Given the description of an element on the screen output the (x, y) to click on. 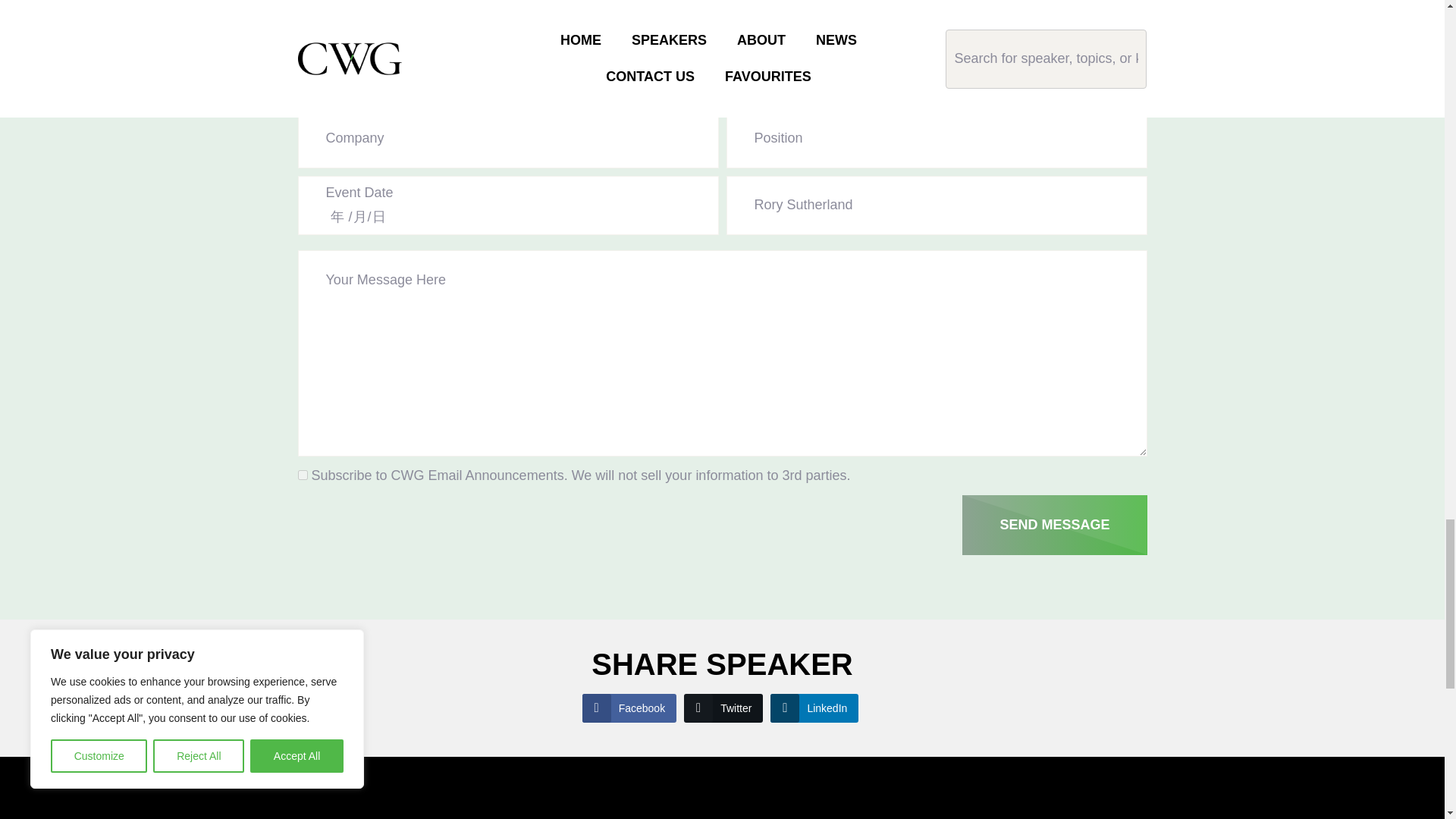
1 (302, 474)
Rory Sutherland (936, 205)
